Given the description of an element on the screen output the (x, y) to click on. 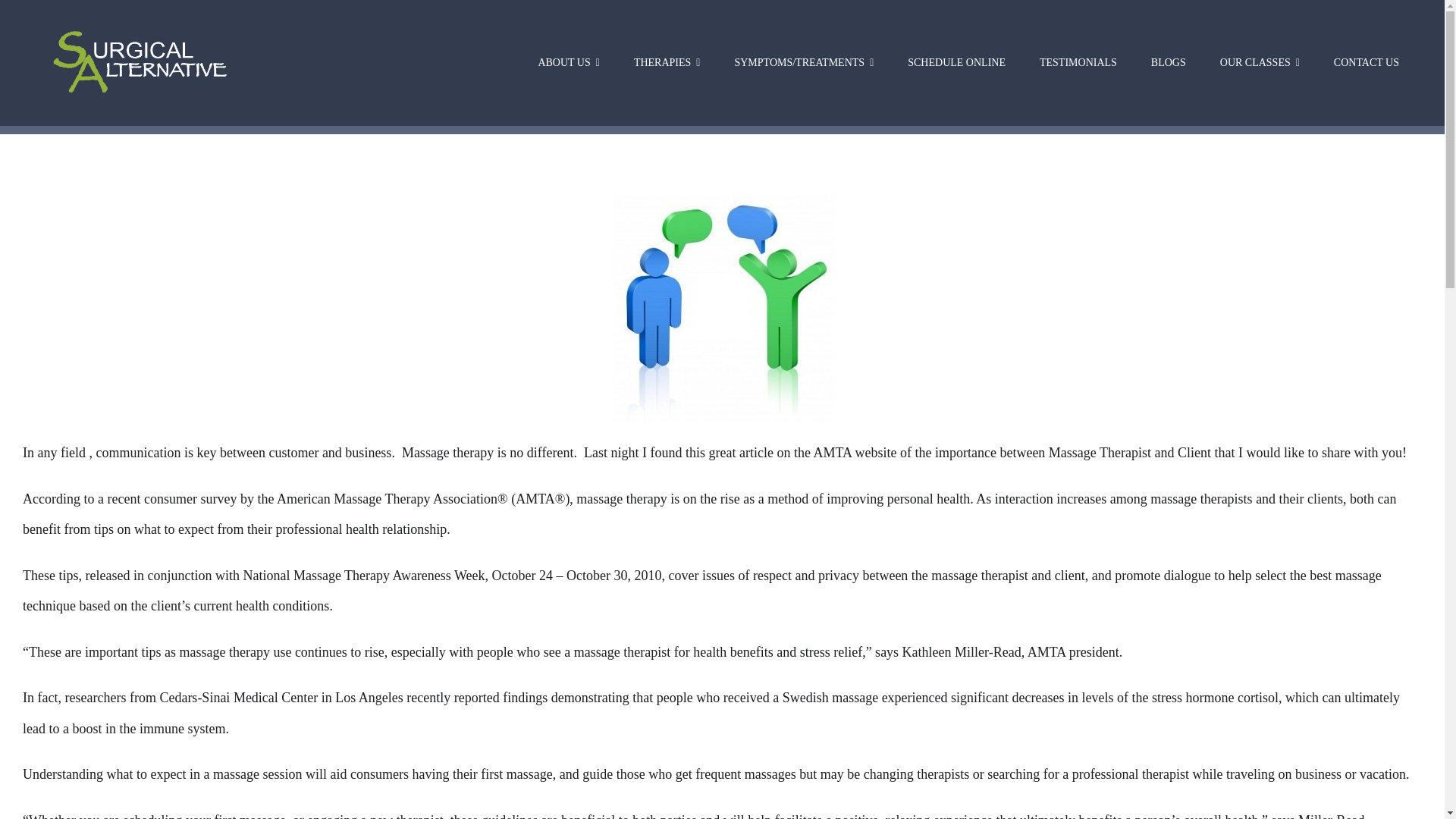
Yammer (825, 39)
ABOUT US (568, 62)
LinkedIn (598, 39)
SCHEDULE ONLINE (956, 62)
THERAPIES (666, 62)
Cranial Structural Bodywork-Classes (1260, 62)
Reddit (780, 39)
Pinterest (643, 39)
Facebook (689, 39)
TESTIMONIALS (1077, 62)
More Options (871, 39)
